Given the description of an element on the screen output the (x, y) to click on. 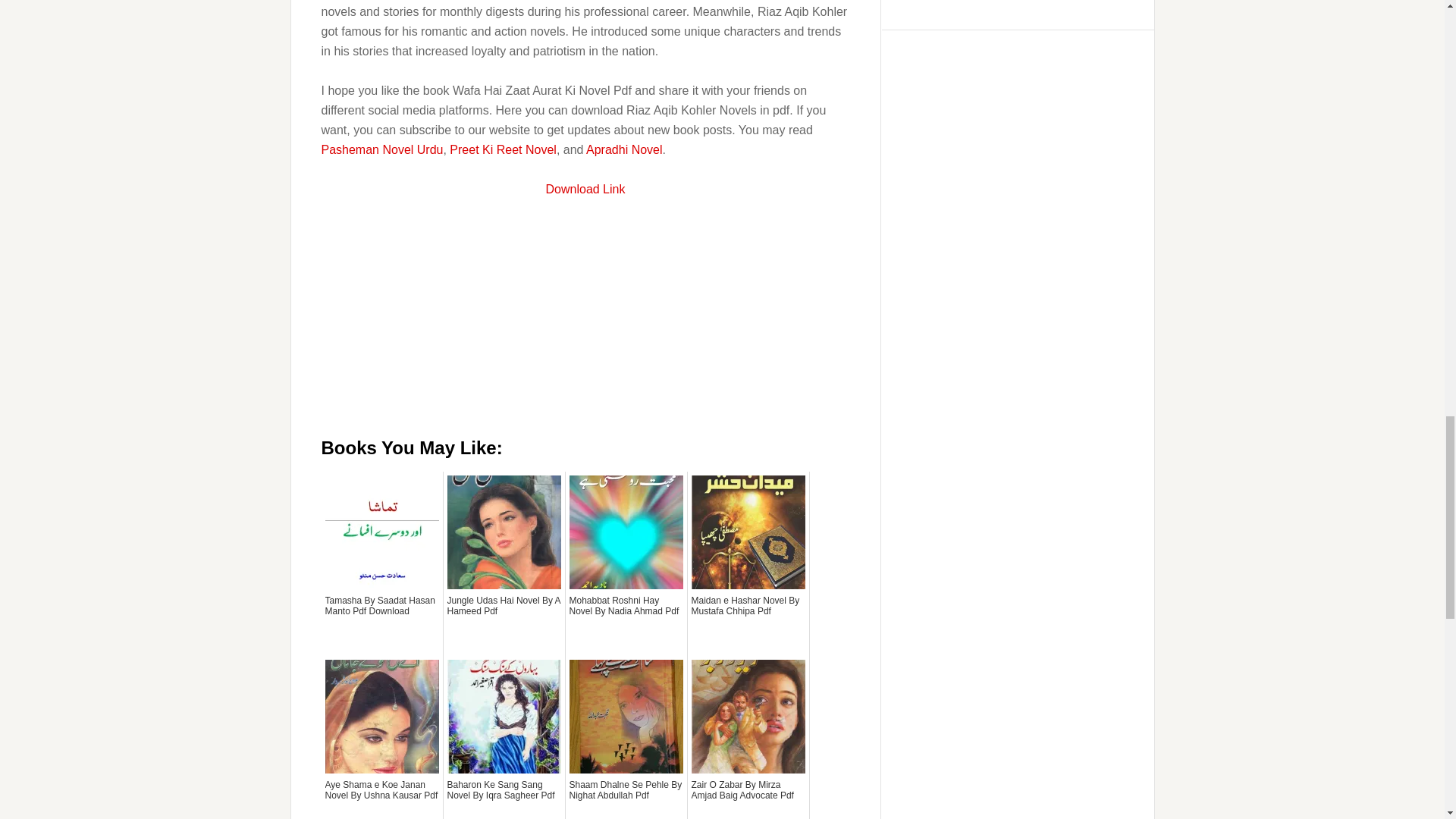
Tamasha By Saadat Hasan Manto Pdf Download (381, 623)
Download Link (586, 188)
Preet Ki Reet Novel (502, 149)
Apradhi Novel (624, 149)
Pasheman Novel Urdu (382, 149)
Advertisement (585, 325)
Jungle Udas Hai Novel By A Hameed Pdf (503, 623)
Mohabbat Roshni Hay Novel By Nadia Ahmad Pdf (625, 623)
